Given the description of an element on the screen output the (x, y) to click on. 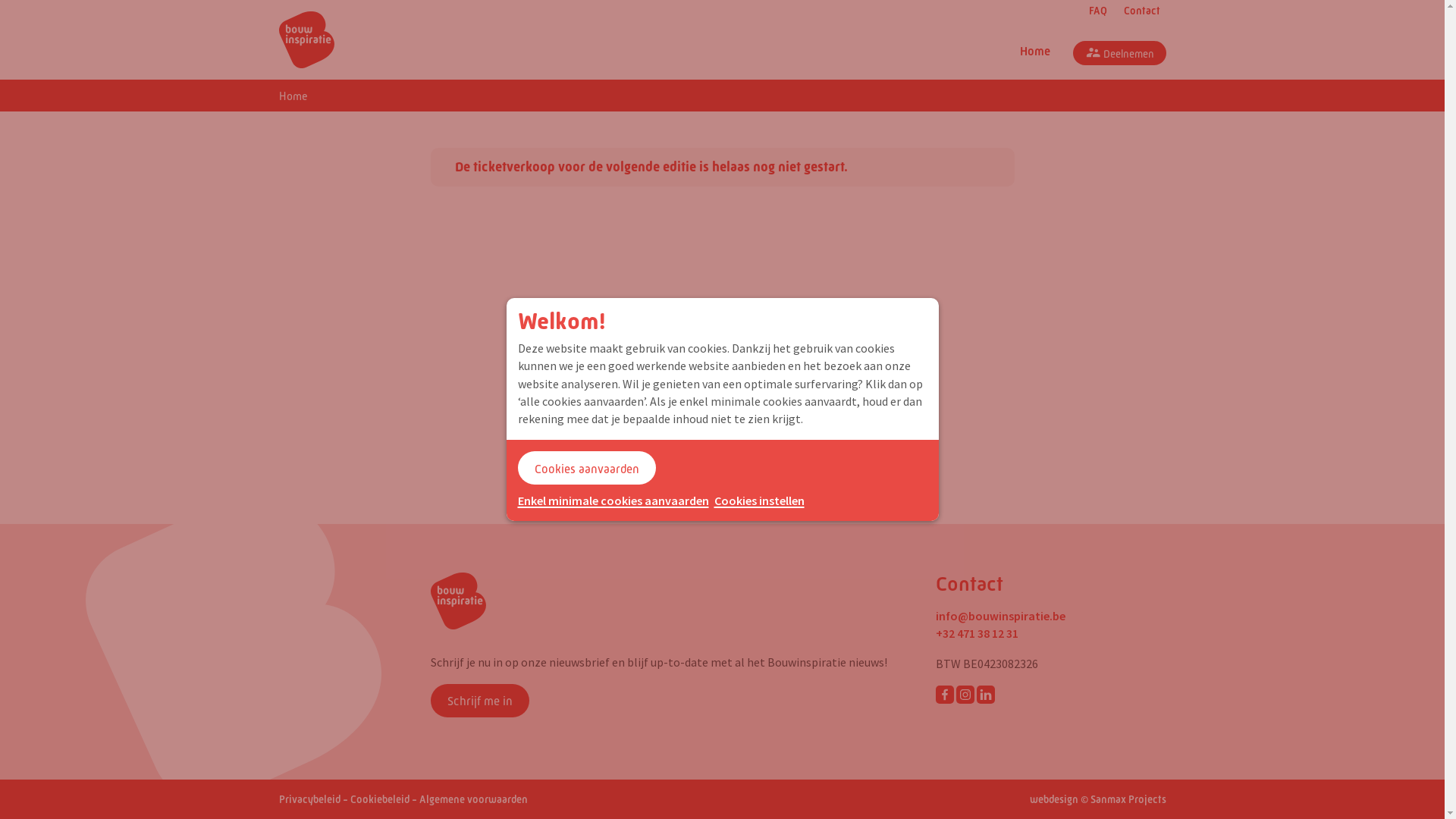
Facebook Element type: text (944, 694)
FAQ Element type: text (1095, 11)
Deelnemen Element type: text (1118, 52)
Cookies aanvaarden Element type: text (586, 467)
info@bouwinspiratie.be Element type: text (1000, 615)
Instagram Element type: text (965, 694)
Enkel minimale cookies aanvaarden Element type: text (612, 500)
Cookiebeleid Element type: text (379, 799)
Algemene voorwaarden Element type: text (472, 799)
Home Element type: text (293, 96)
+32 471 38 12 31 Element type: text (976, 632)
Home Element type: text (1034, 53)
Contact Element type: text (1139, 11)
Cookies instellen Element type: text (759, 500)
Privacybeleid Element type: text (309, 799)
Schrijf me in Element type: text (479, 700)
LinkedIn Element type: text (985, 694)
